Given the description of an element on the screen output the (x, y) to click on. 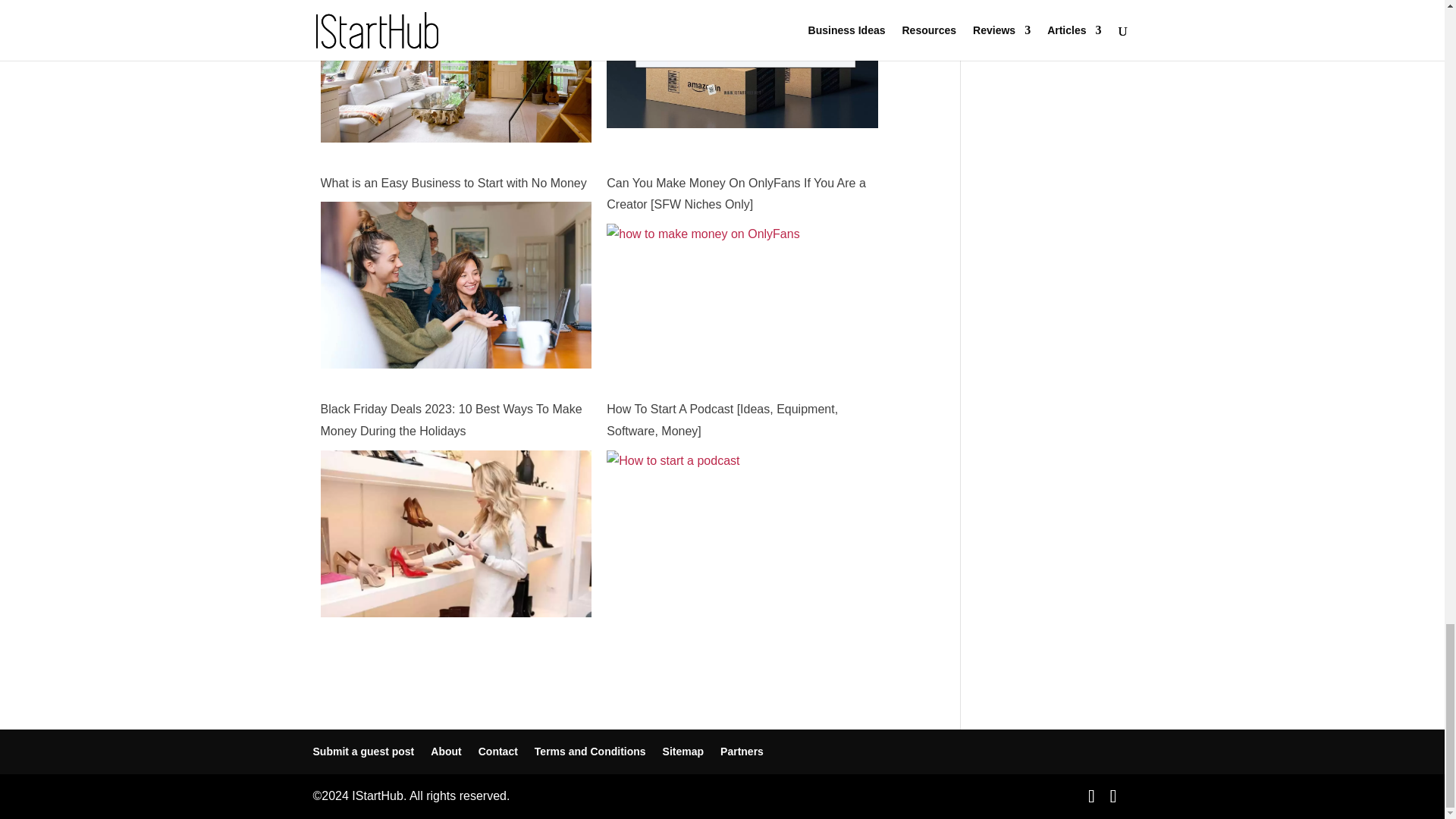
What is an Easy Business to Start with No Money (455, 370)
What is an Easy Business to Start with No Money (455, 183)
7 Steps On How to Make Money Reviewing Amazon Products (742, 115)
